Given the description of an element on the screen output the (x, y) to click on. 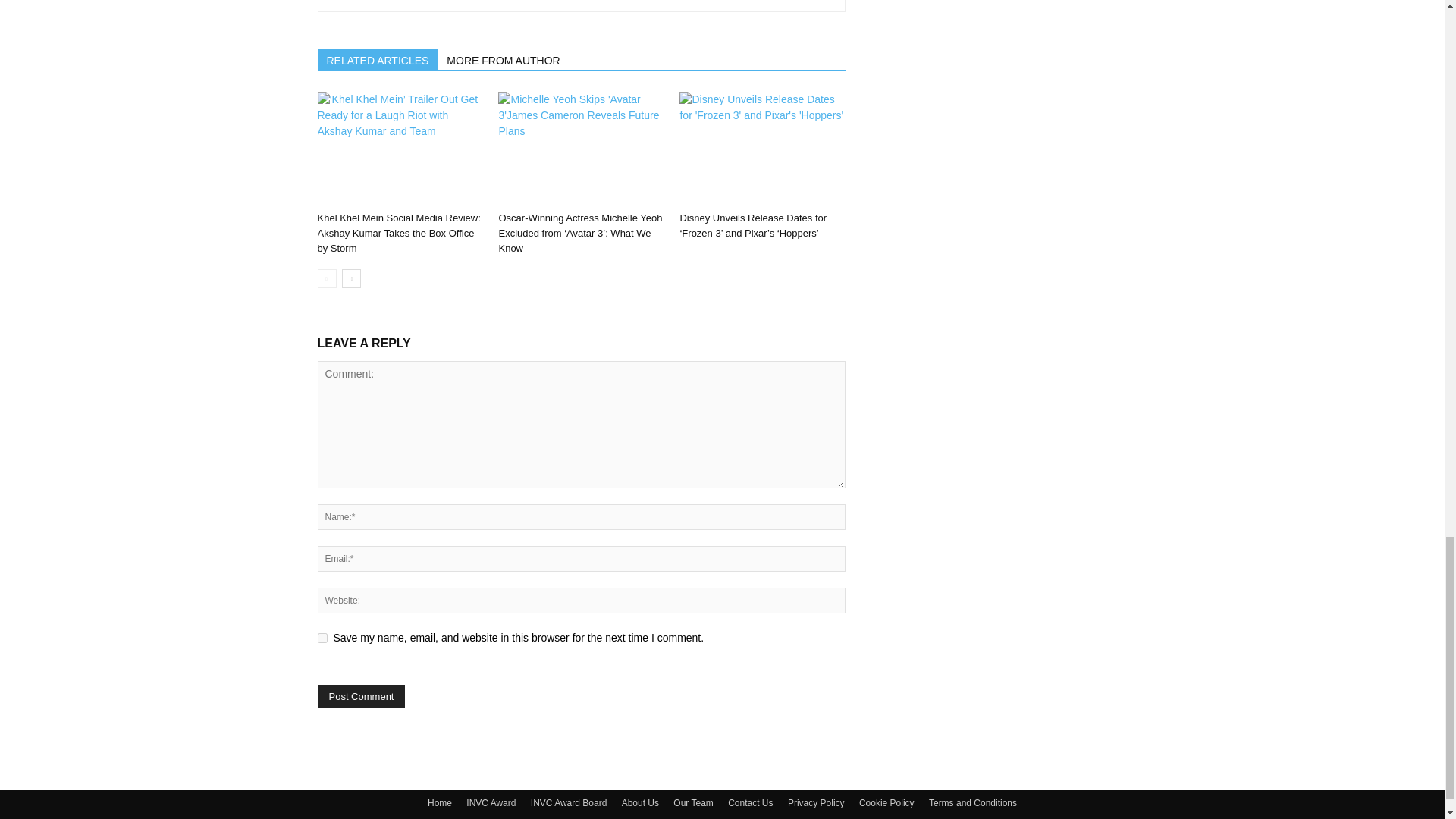
Post Comment (360, 696)
yes (321, 637)
